Given the description of an element on the screen output the (x, y) to click on. 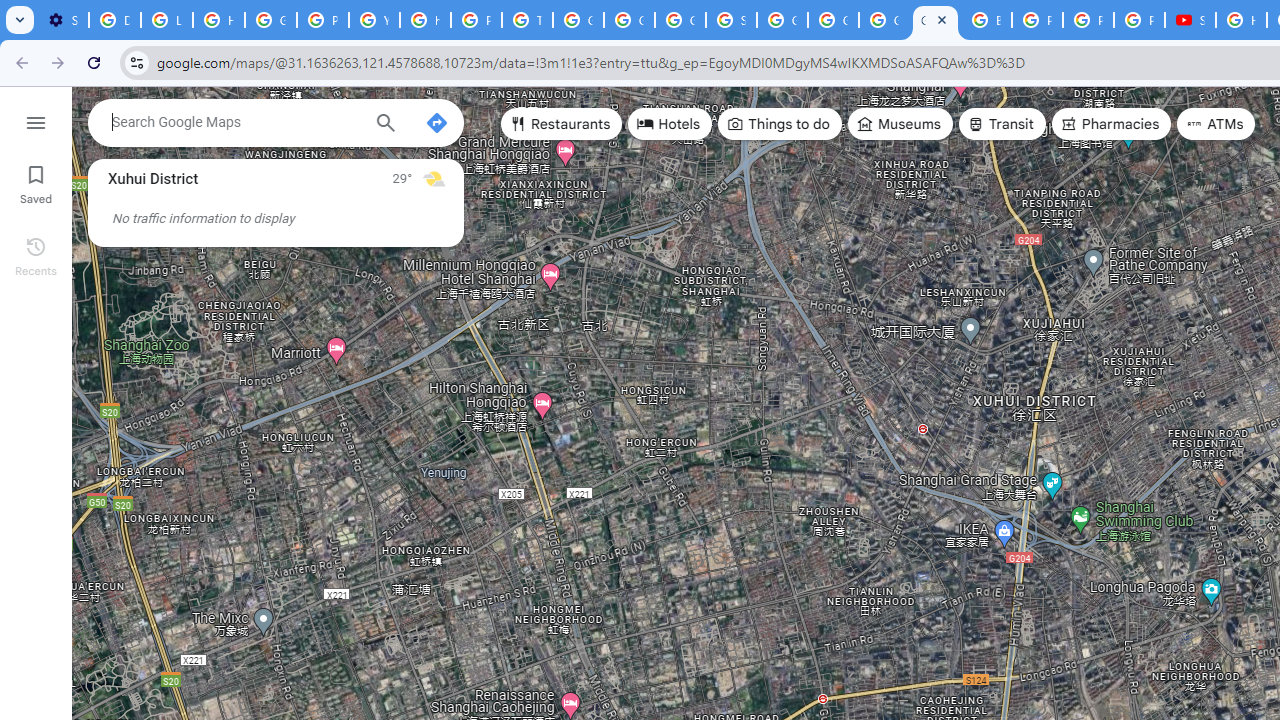
Privacy Help Center - Policies Help (1087, 20)
Blogger Policies and Guidelines - Transparency Center (986, 20)
Privacy Help Center - Policies Help (475, 20)
Saved (35, 182)
Google Maps (935, 20)
Recents (35, 254)
Menu (35, 120)
Subscriptions - YouTube (1189, 20)
YouTube (374, 20)
Hotels (670, 124)
Privacy Help Center - Policies Help (1037, 20)
